Given the description of an element on the screen output the (x, y) to click on. 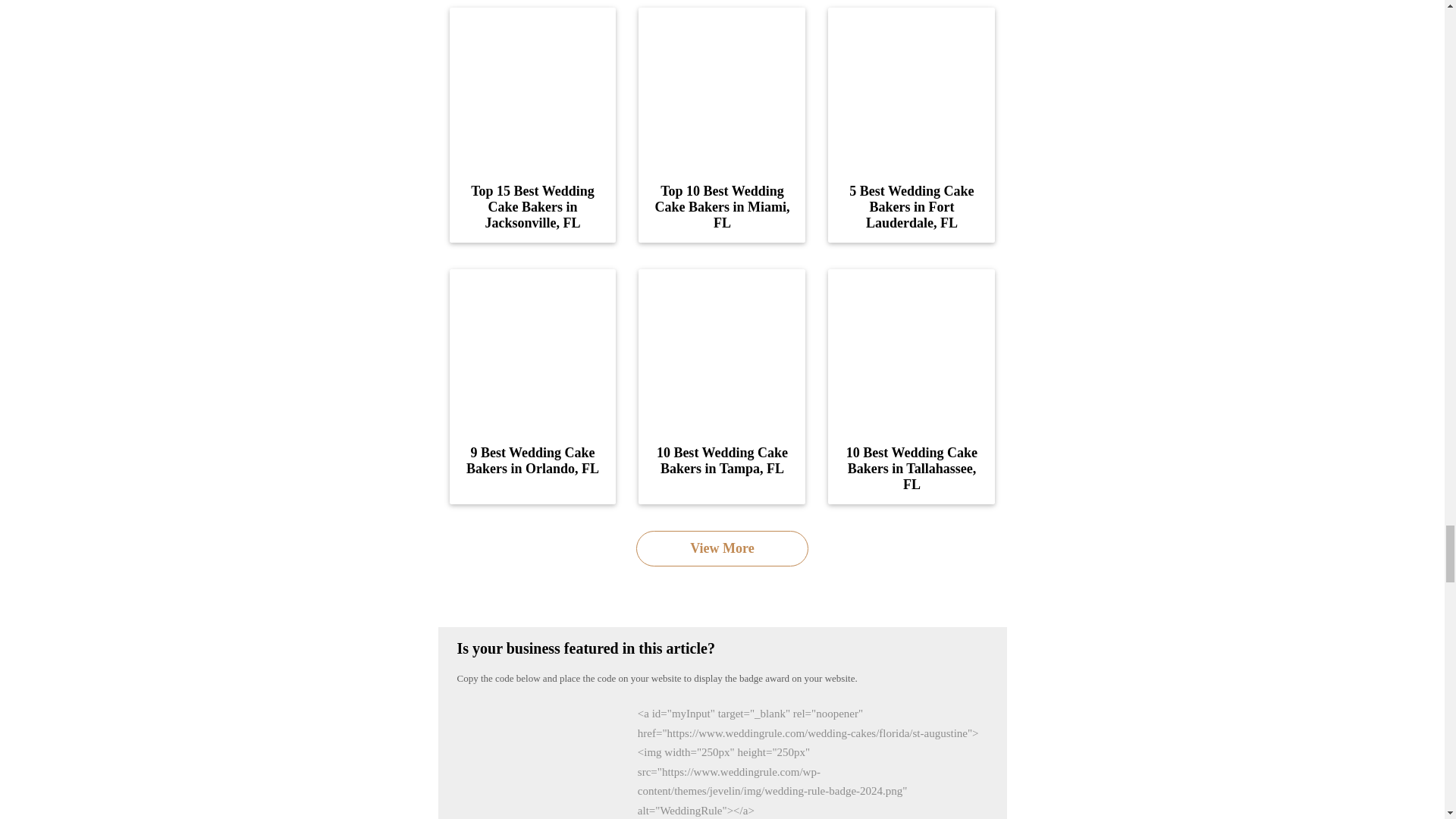
5 Best Wedding Cake Bakers in Fort Lauderdale, FL (911, 88)
Top 10 Best Wedding Cake Bakers in Miami, FL (722, 88)
10 Best Wedding Cake Bakers in Tallahassee, FL (911, 350)
Top 15 Best Wedding Cake Bakers in Jacksonville, FL (531, 88)
9 Best Wedding Cake Bakers in Orlando, FL (531, 350)
10 Best Wedding Cake Bakers in Tampa, FL (722, 350)
